Given the description of an element on the screen output the (x, y) to click on. 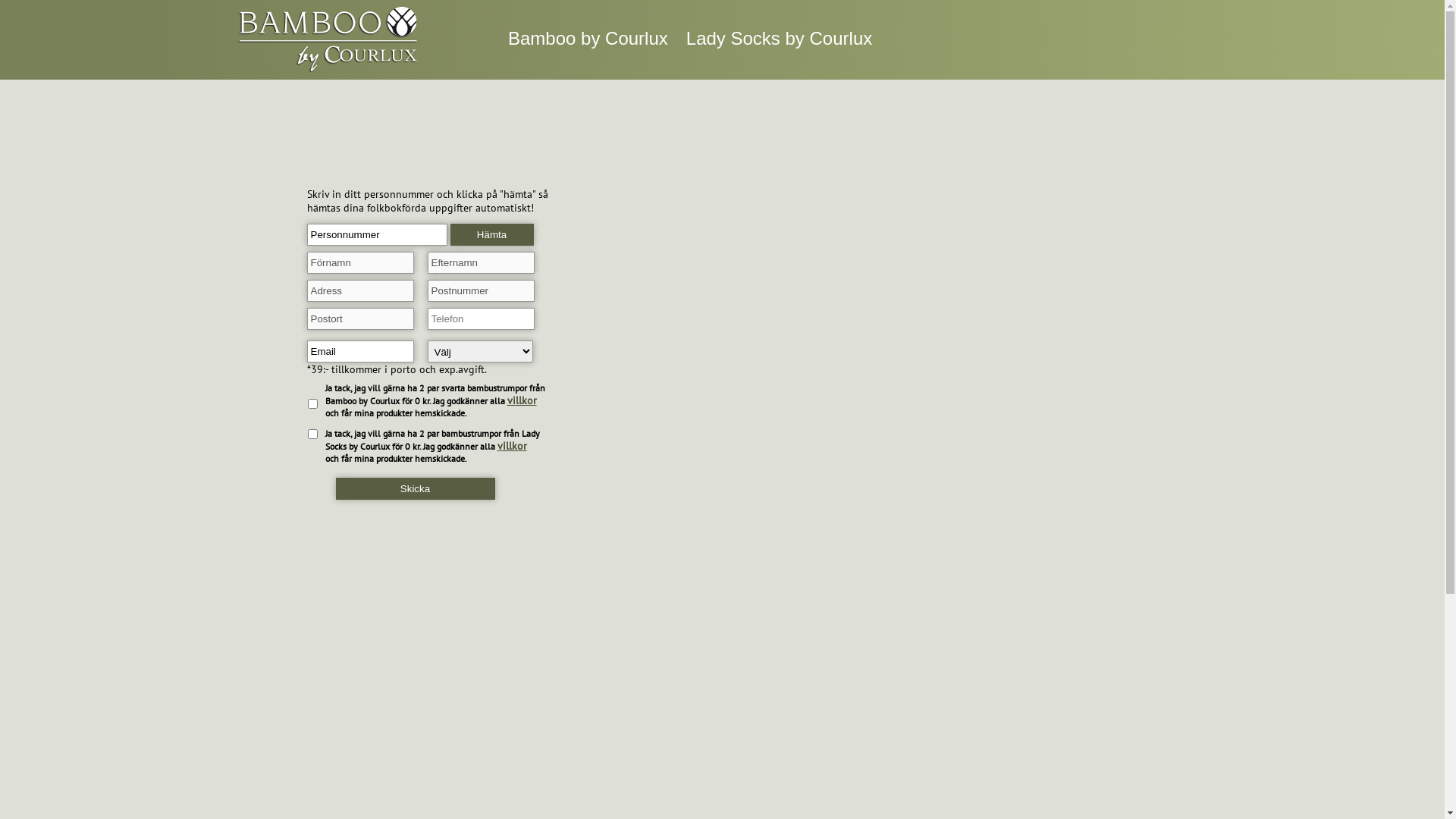
villkor Element type: text (521, 400)
villkor Element type: text (512, 445)
Lady Socks by Courlux Element type: text (779, 38)
Bamboo by Courlux Element type: text (588, 38)
